Given the description of an element on the screen output the (x, y) to click on. 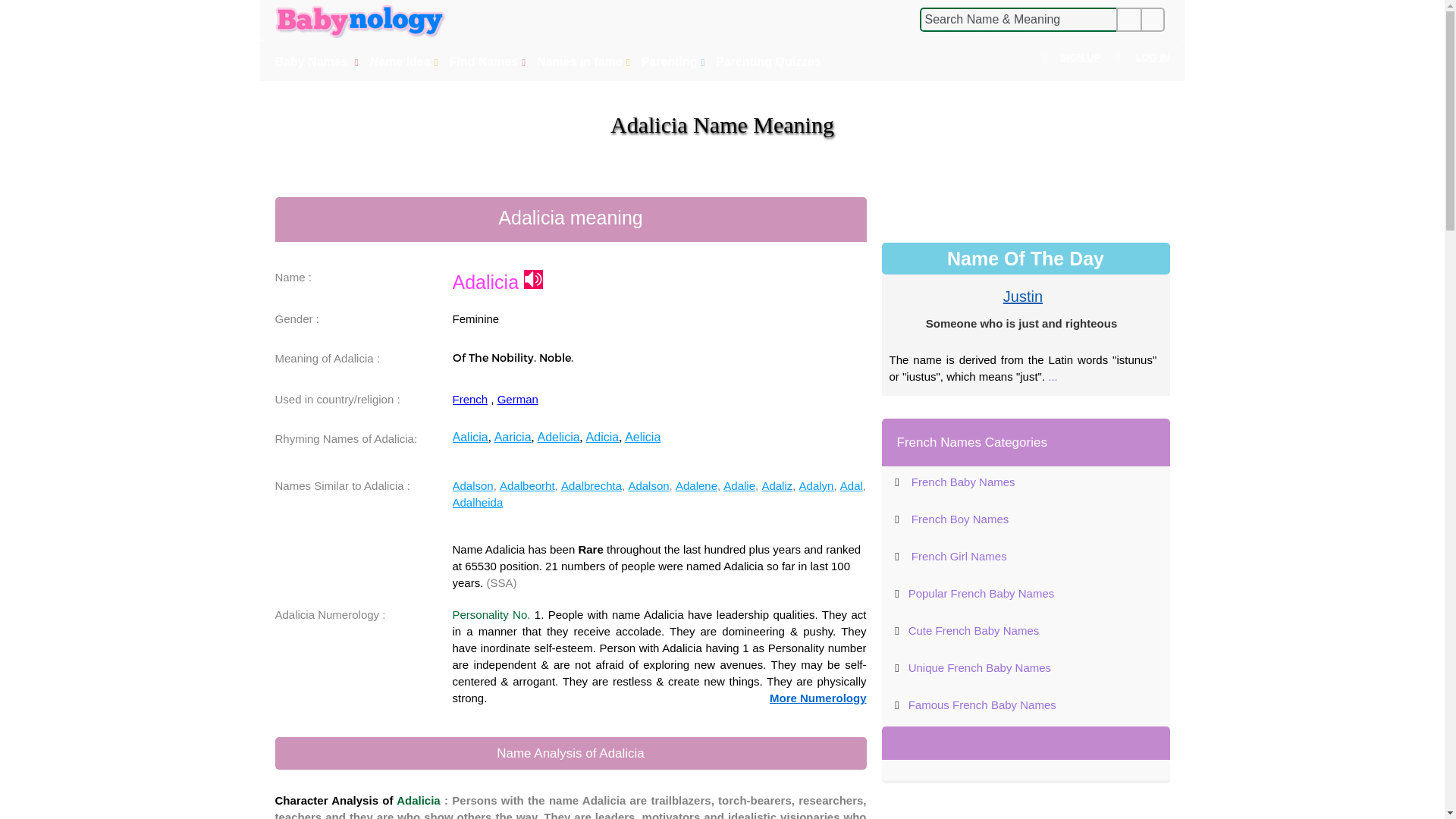
French Baby Names meaning (962, 481)
Baby Names (318, 62)
Name Idea (405, 62)
Adalicia   (533, 279)
French  Boy Names meaning (960, 518)
French  Girl Names meaning (959, 555)
